Given the description of an element on the screen output the (x, y) to click on. 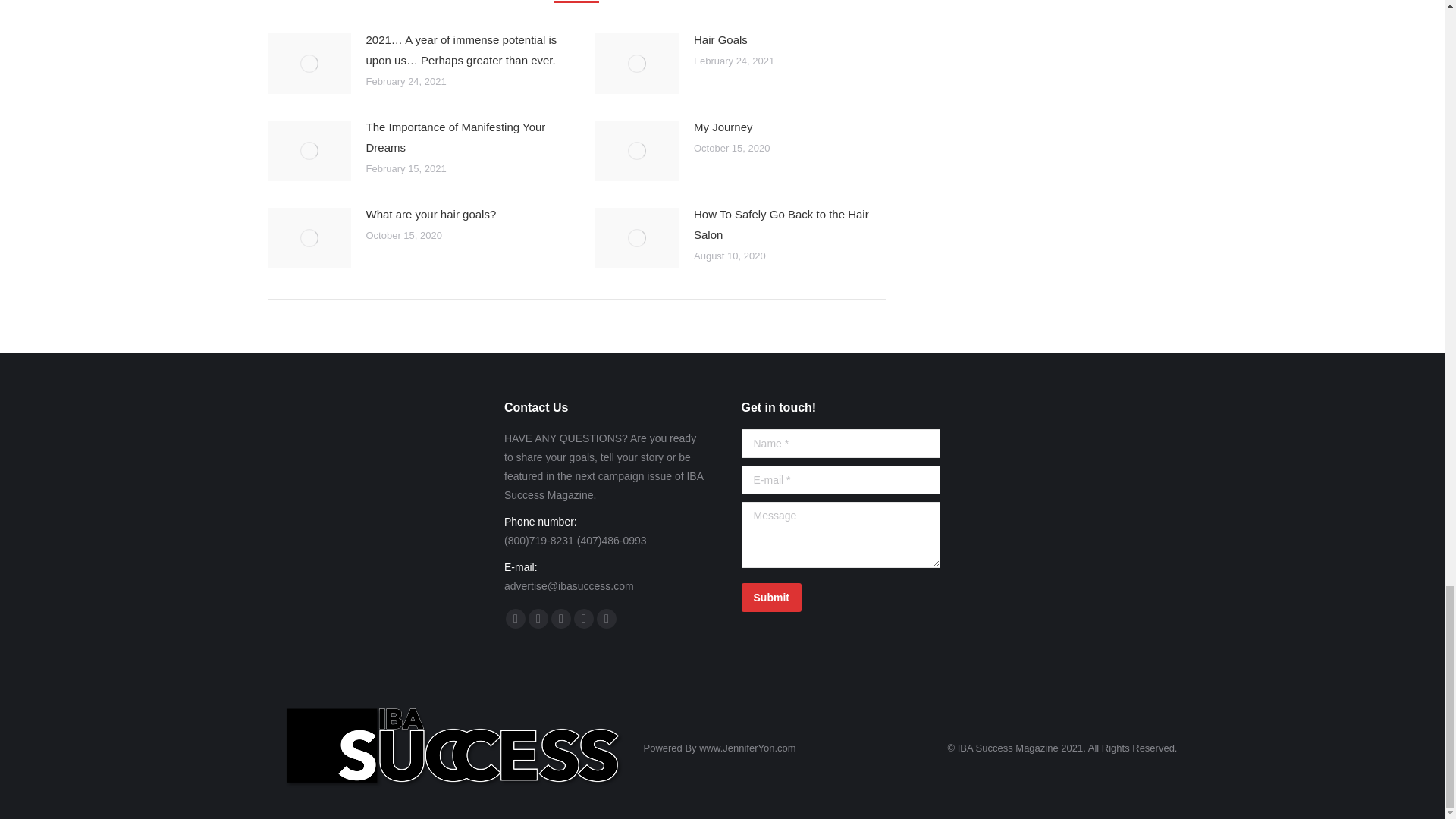
submit (838, 597)
